Given the description of an element on the screen output the (x, y) to click on. 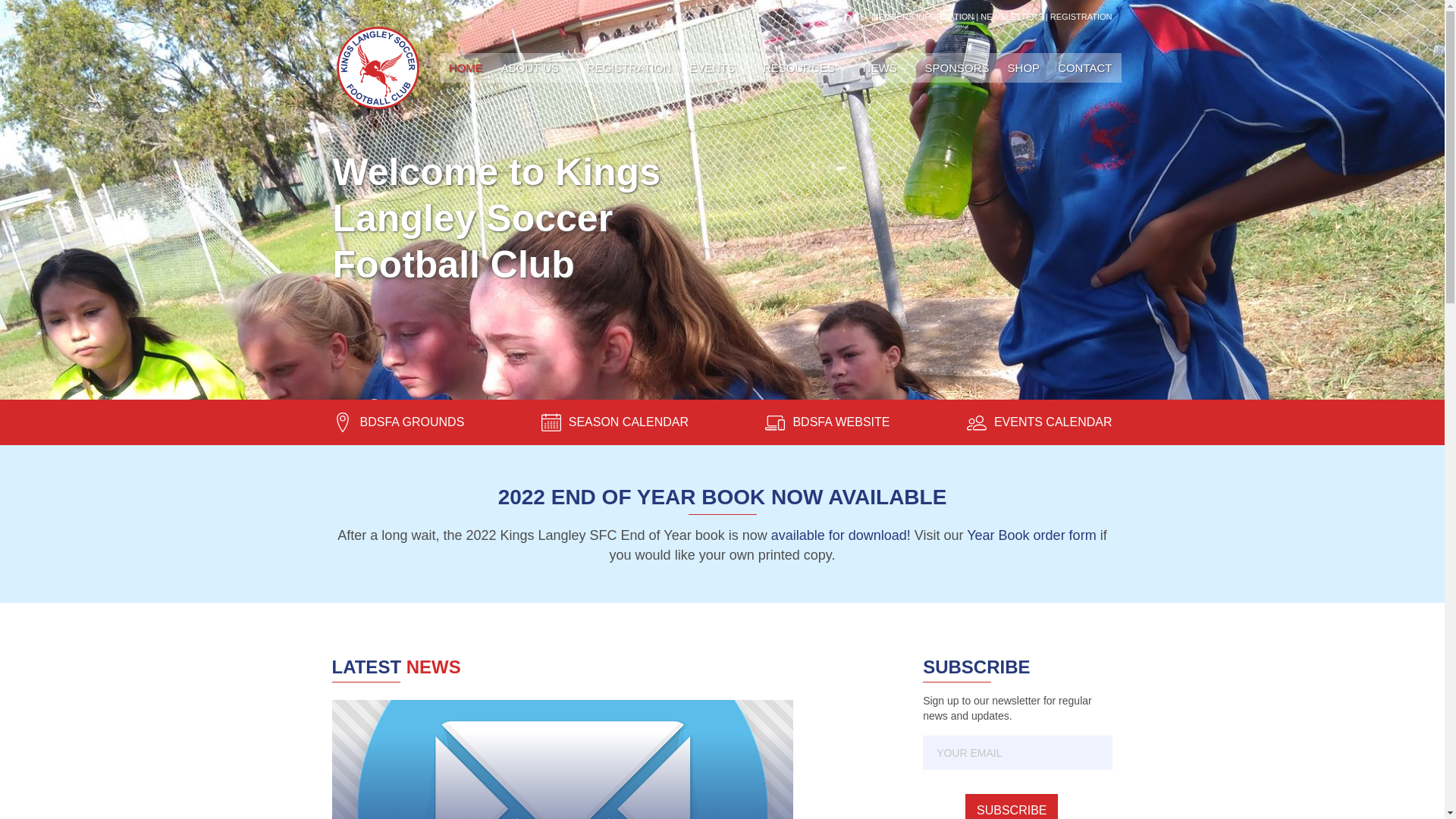
NEWSLETTERS Element type: text (1011, 16)
RESOURCES Element type: text (803, 67)
EVENTS CALENDAR Element type: text (1039, 422)
SHOP Element type: text (1023, 67)
SPONSORS Element type: text (957, 67)
MEMBERS INFORMATION Element type: text (922, 16)
EVENTS Element type: text (716, 67)
available for download! Element type: text (840, 534)
HOME Element type: text (465, 67)
BDSFA WEBSITE Element type: text (827, 422)
ABOUT US Element type: text (534, 67)
SEASON CALENDAR Element type: text (614, 422)
REGISTRATION Element type: text (1081, 16)
CONTACT Element type: text (1084, 67)
Year Book order form Element type: text (1030, 534)
NEWS Element type: text (884, 67)
REGISTRATION Element type: text (628, 67)
BDSFA GROUNDS Element type: text (398, 422)
